Given the description of an element on the screen output the (x, y) to click on. 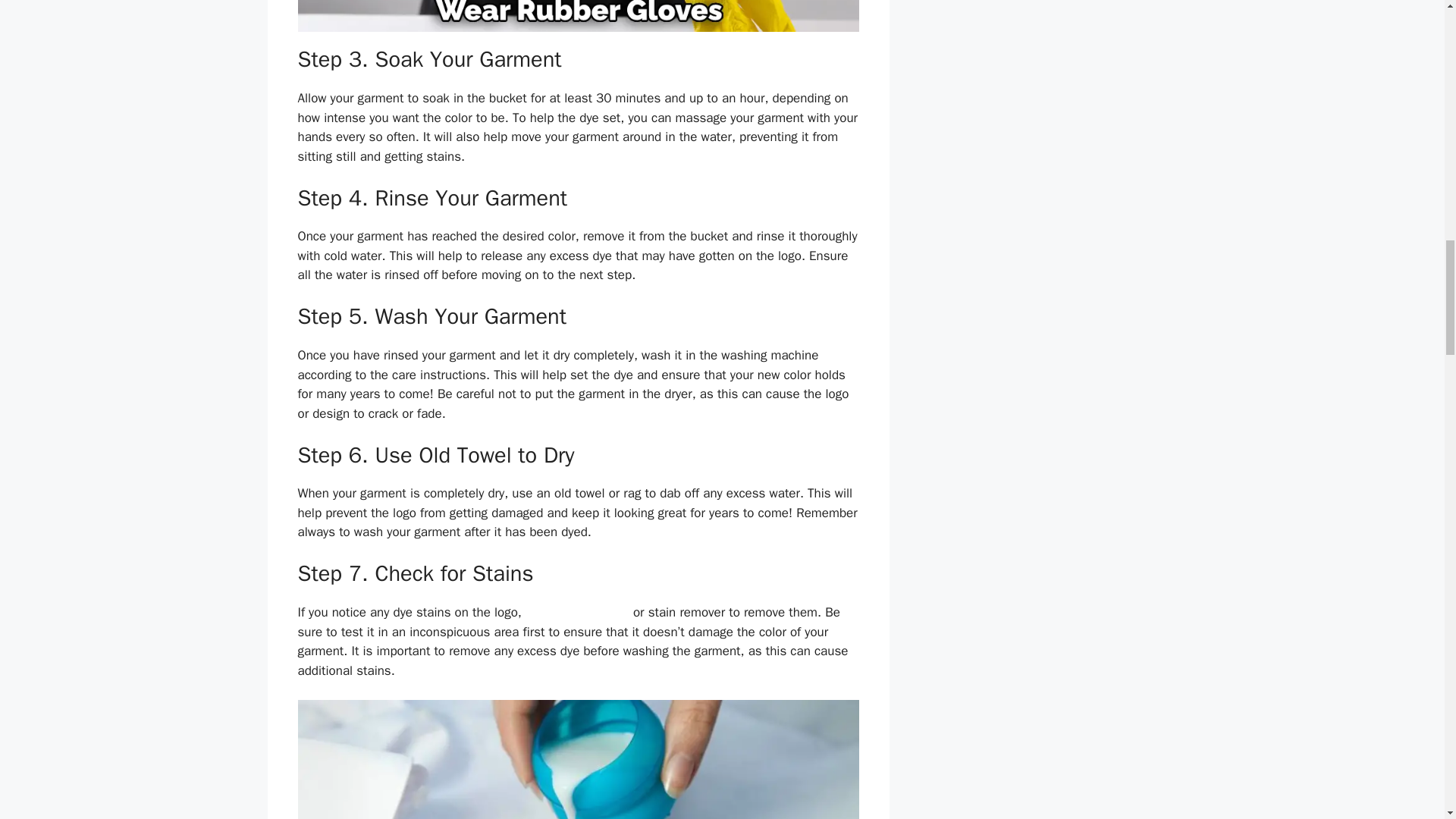
use a dye remover (576, 611)
